Given the description of an element on the screen output the (x, y) to click on. 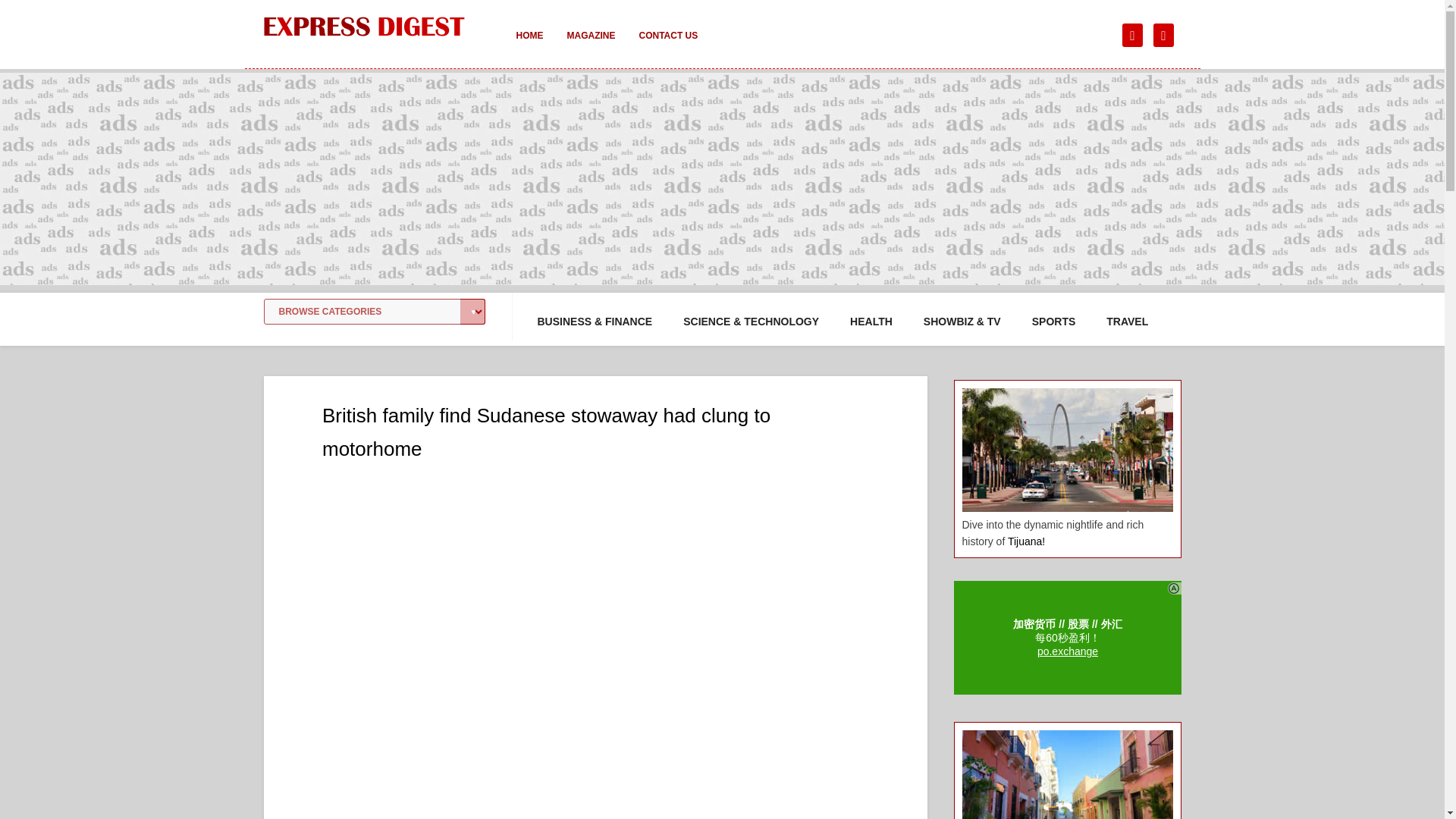
HEALTH (871, 321)
MAGAZINE (590, 45)
TRAVEL (1127, 321)
CONTACT US (667, 45)
Tijuana! (1026, 541)
SPORTS (1053, 321)
